Given the description of an element on the screen output the (x, y) to click on. 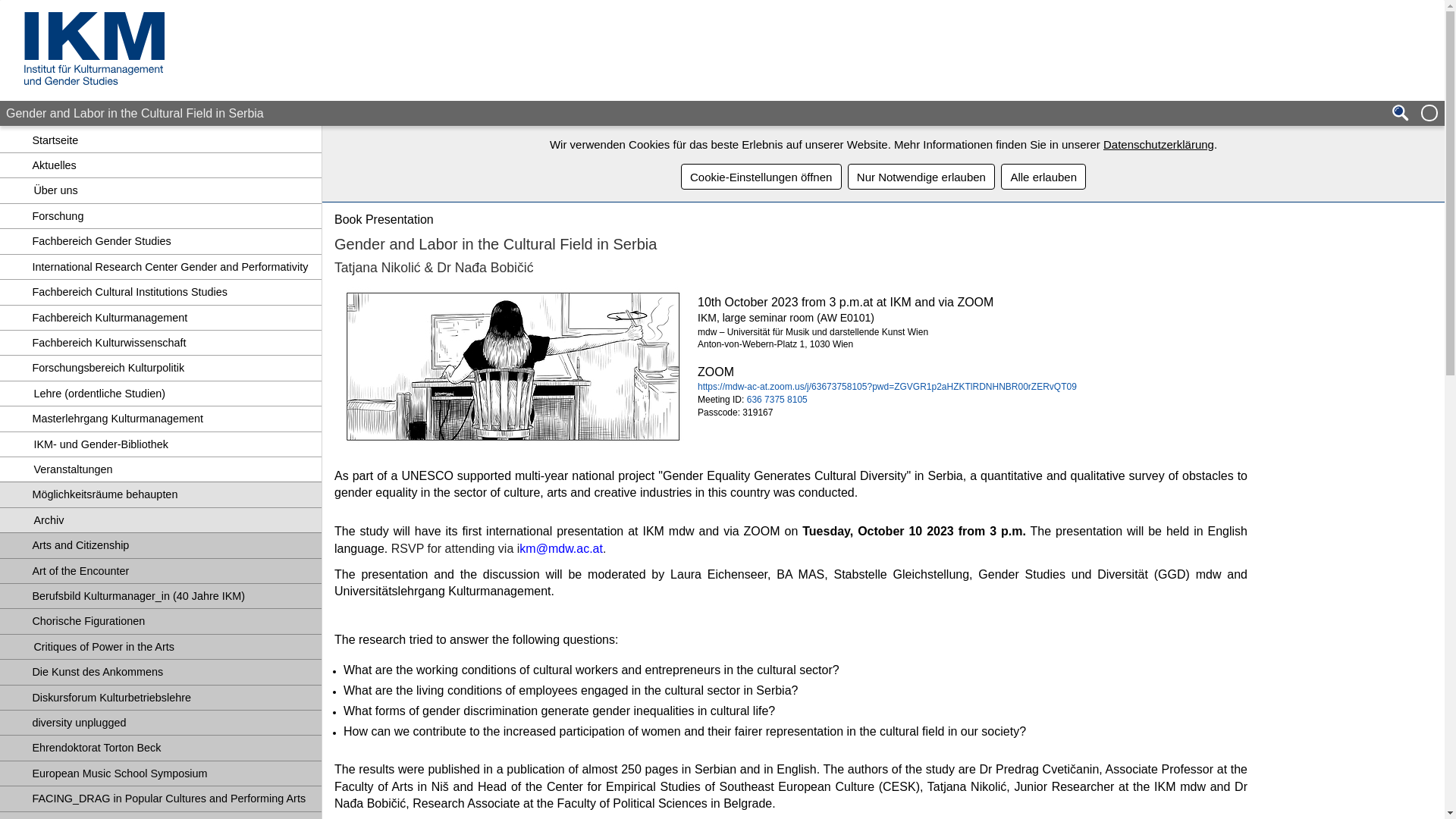
International Research Center Gender and Performativity (160, 266)
Fachbereich Gender Studies (160, 241)
Aktuelles (160, 165)
Switch to english page (1428, 113)
Fachbereich Kulturwissenschaft (160, 342)
Suche (1400, 113)
Forschung (160, 215)
mdw - Homepage (1377, 45)
Switch to english page (1428, 113)
Fachbereich Cultural Institutions Studies (160, 291)
